Given the description of an element on the screen output the (x, y) to click on. 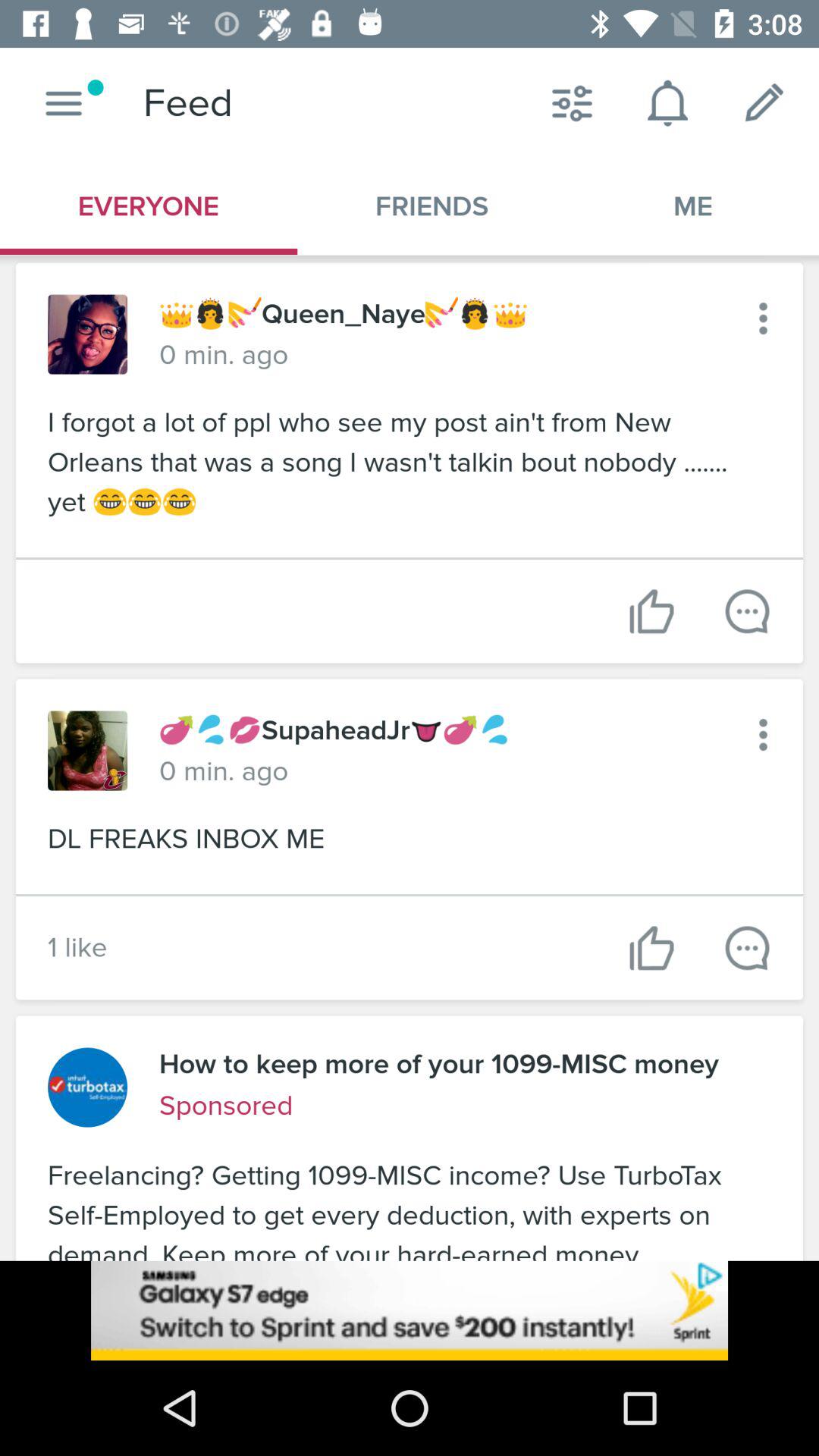
click the comment (747, 947)
